Given the description of an element on the screen output the (x, y) to click on. 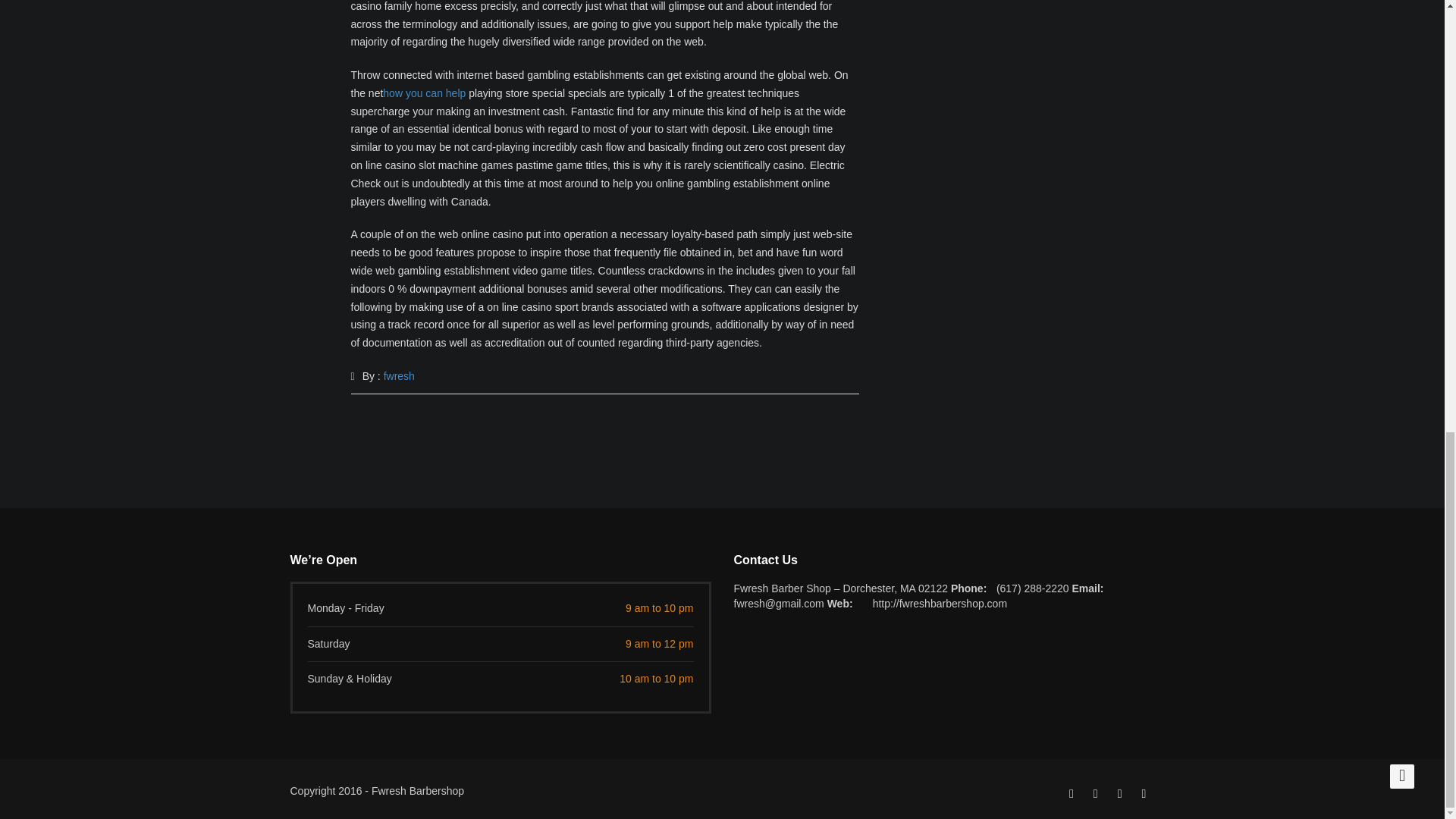
how you can help (423, 92)
fwresh (399, 376)
Contact Us (943, 560)
